Given the description of an element on the screen output the (x, y) to click on. 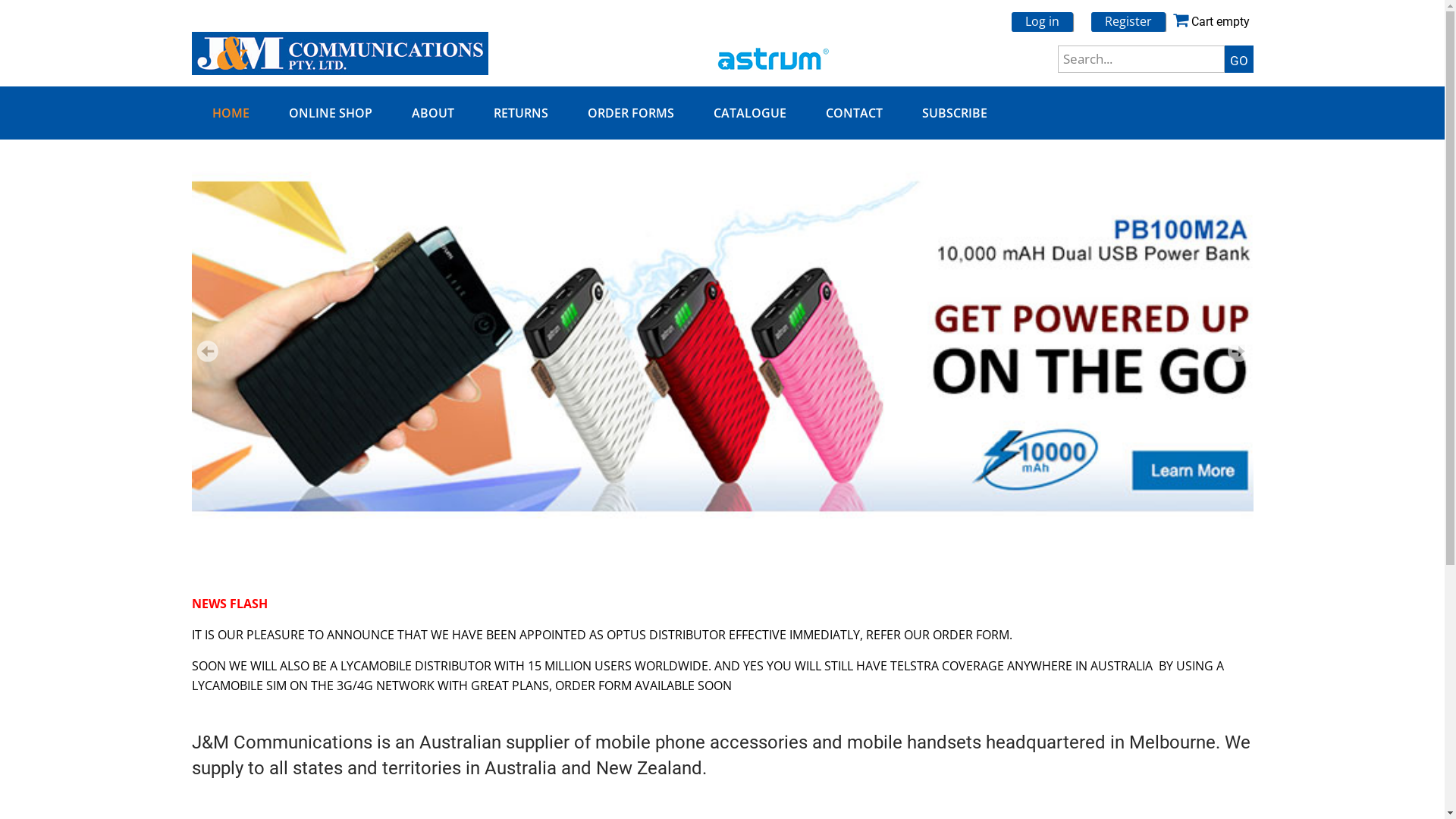
GO Element type: text (1237, 58)
> Element type: text (1237, 350)
< Element type: text (206, 350)
CONTACT Element type: text (852, 112)
HOME Element type: text (229, 112)
SUBSCRIBE Element type: text (953, 112)
ORDER FORMS Element type: text (629, 112)
CATALOGUE Element type: text (748, 112)
ONLINE SHOP Element type: text (328, 112)
RETURNS Element type: text (519, 112)
